Given the description of an element on the screen output the (x, y) to click on. 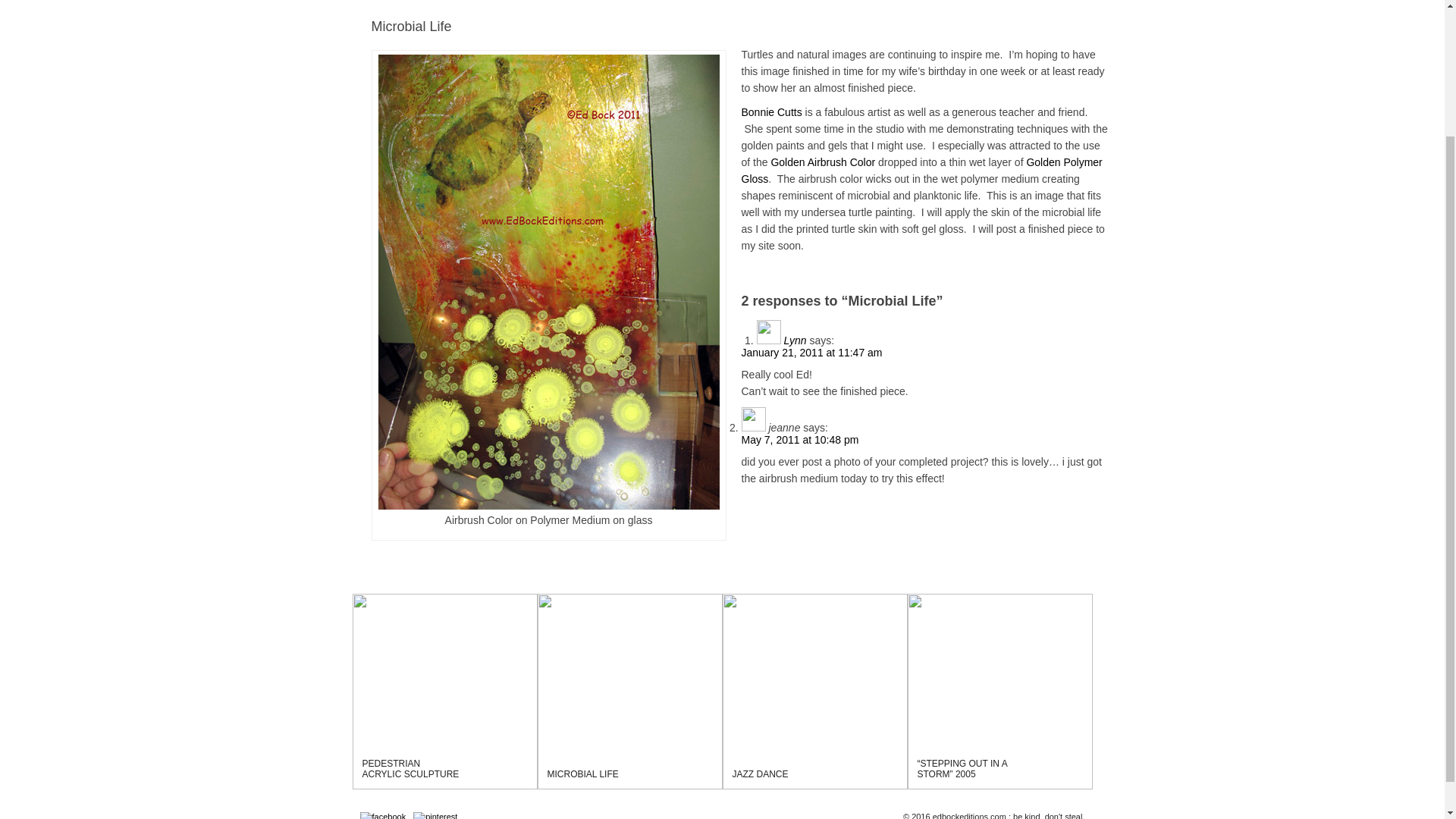
Golden Polymer Gloss (921, 170)
JAZZ DANCE (760, 774)
PEDESTRIAN ACRYLIC SCULPTURE (411, 768)
January 21, 2011 at 11:47 am (811, 352)
Bonnie Cutts Site (771, 111)
MICROBIAL LIFE (582, 774)
Golden Polymer info (921, 170)
Bonnie Cutts (771, 111)
Golden Airbrush info (822, 162)
Golden Airbrush Color (822, 162)
May 7, 2011 at 10:48 pm (800, 439)
Lynn (794, 340)
